Given the description of an element on the screen output the (x, y) to click on. 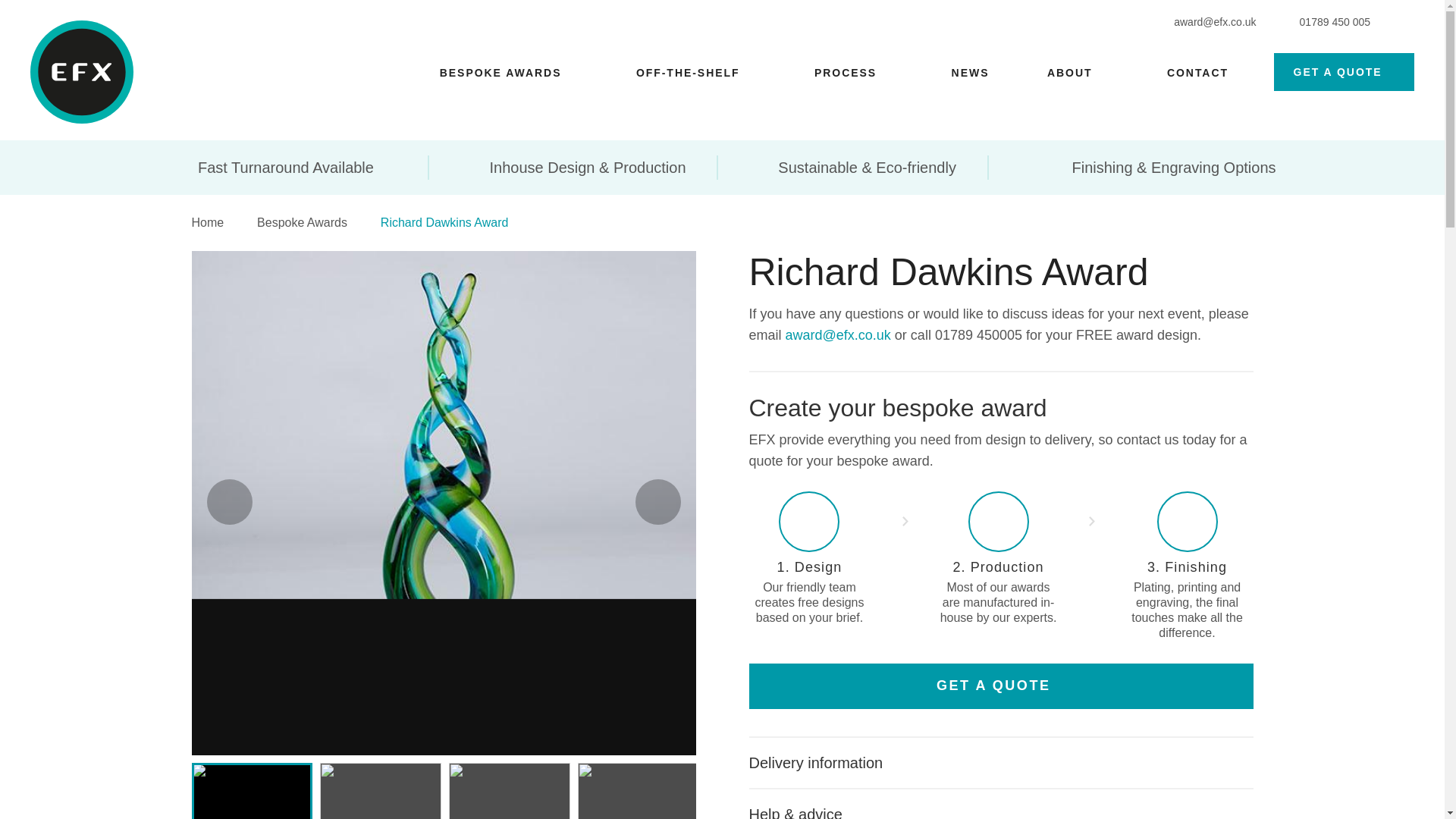
OFF-THE-SHELF (687, 72)
ABOUT (1069, 72)
01789 450 005 (1328, 21)
BESPOKE AWARDS (500, 72)
GET A QUOTE (1343, 71)
Home (216, 223)
NEWS (971, 72)
CONTACT (1197, 72)
Bespoke Awards (311, 223)
PROCESS (844, 72)
